Given the description of an element on the screen output the (x, y) to click on. 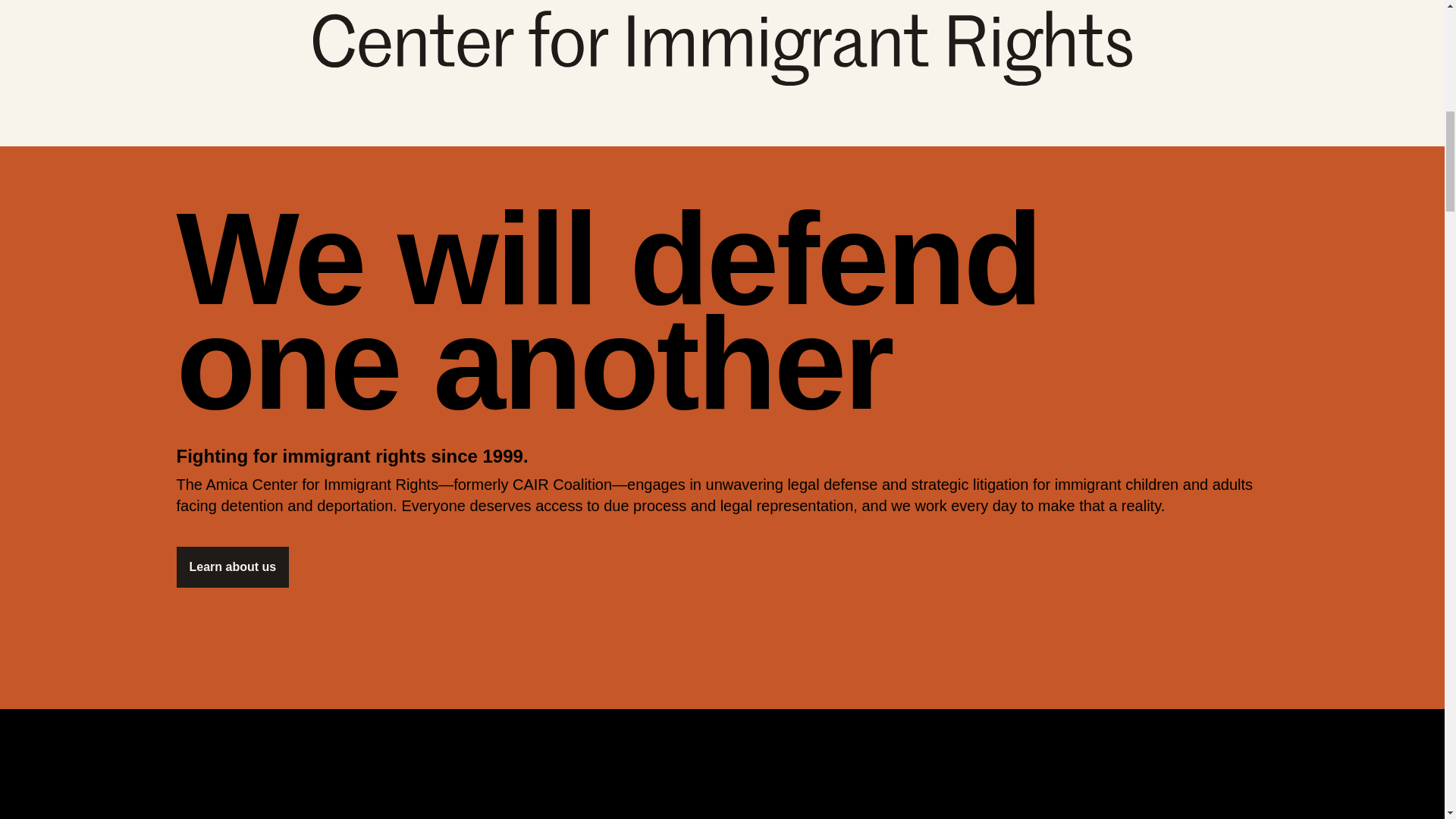
Learn about us (232, 567)
